Given the description of an element on the screen output the (x, y) to click on. 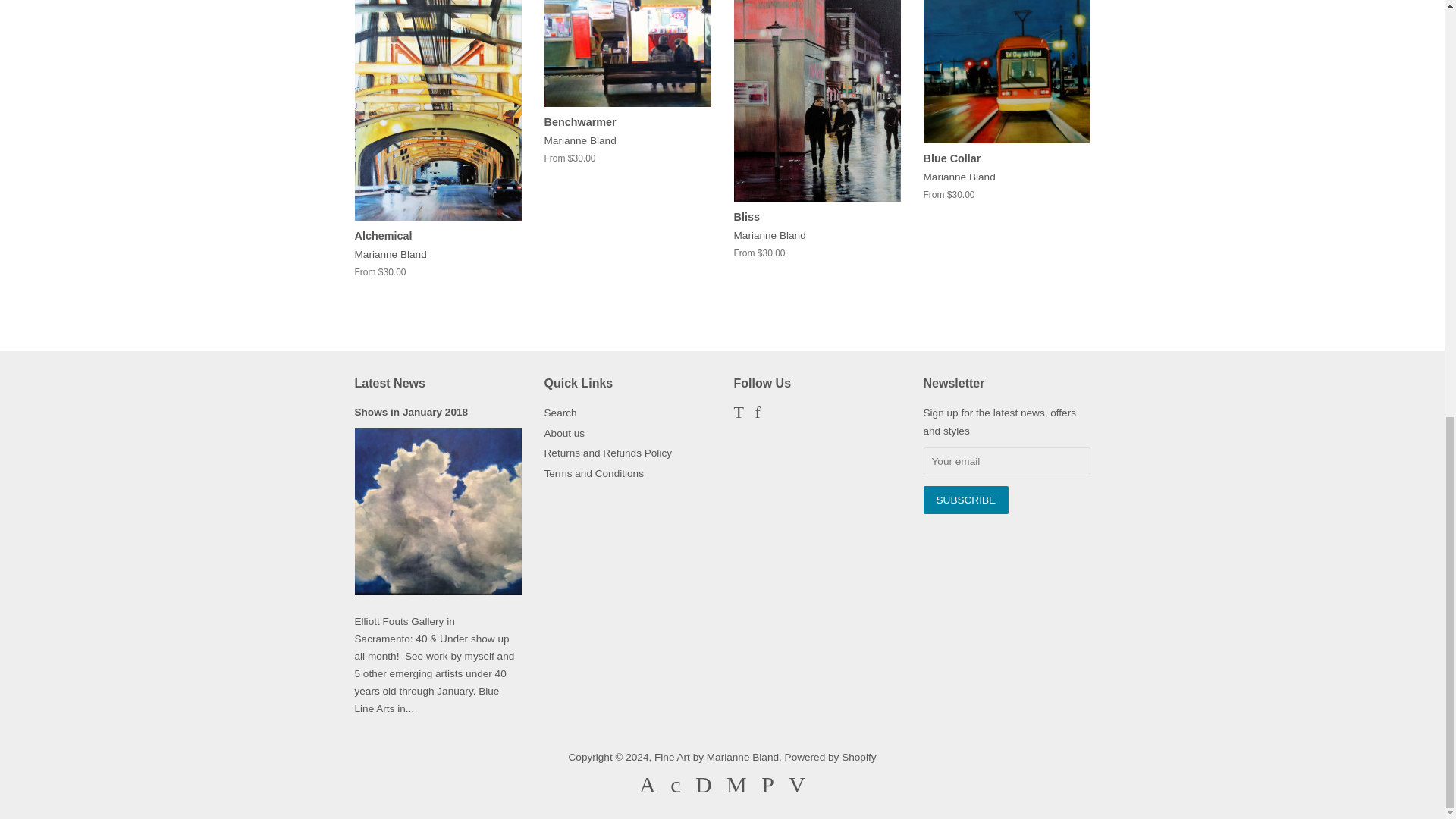
Subscribe (966, 500)
Shows in January 2018 (411, 411)
Latest News (390, 382)
